Given the description of an element on the screen output the (x, y) to click on. 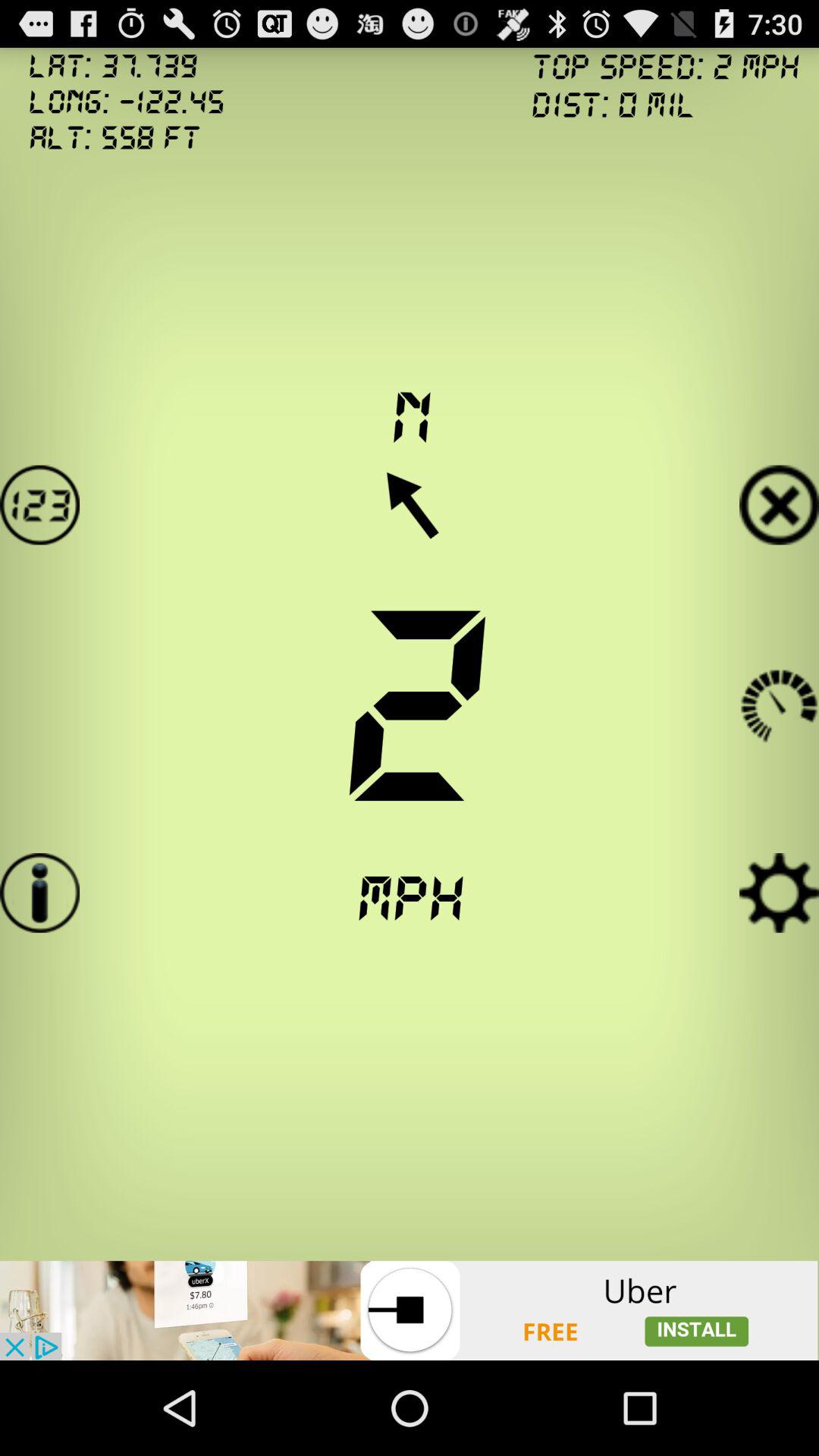
click on the meter icon (779, 703)
select the icon which is above the 2 (409, 504)
